Given the description of an element on the screen output the (x, y) to click on. 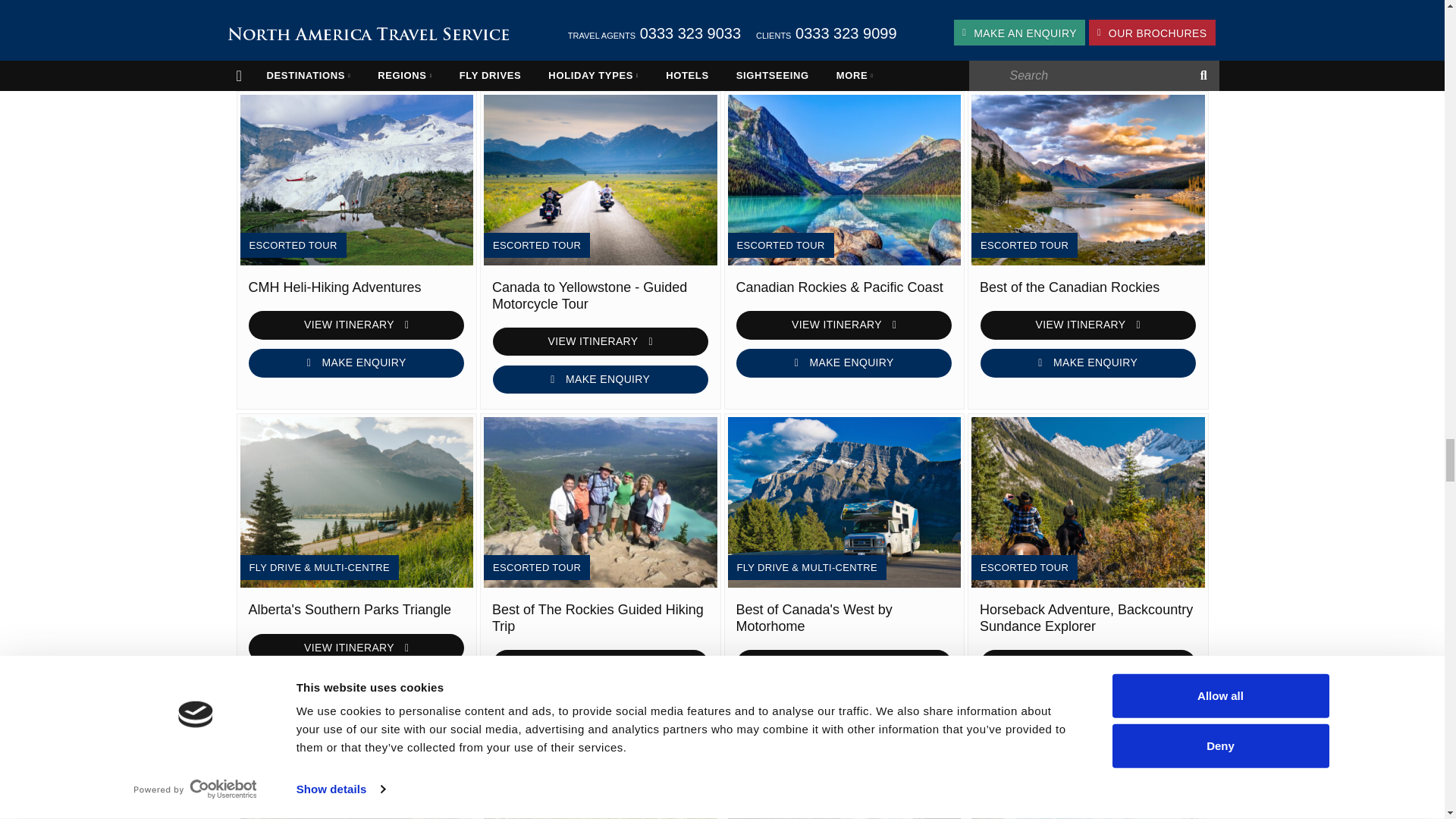
CMH Heli-Hiking Adventures (356, 288)
CMH Heli-Hiking Adventures (356, 180)
